Given the description of an element on the screen output the (x, y) to click on. 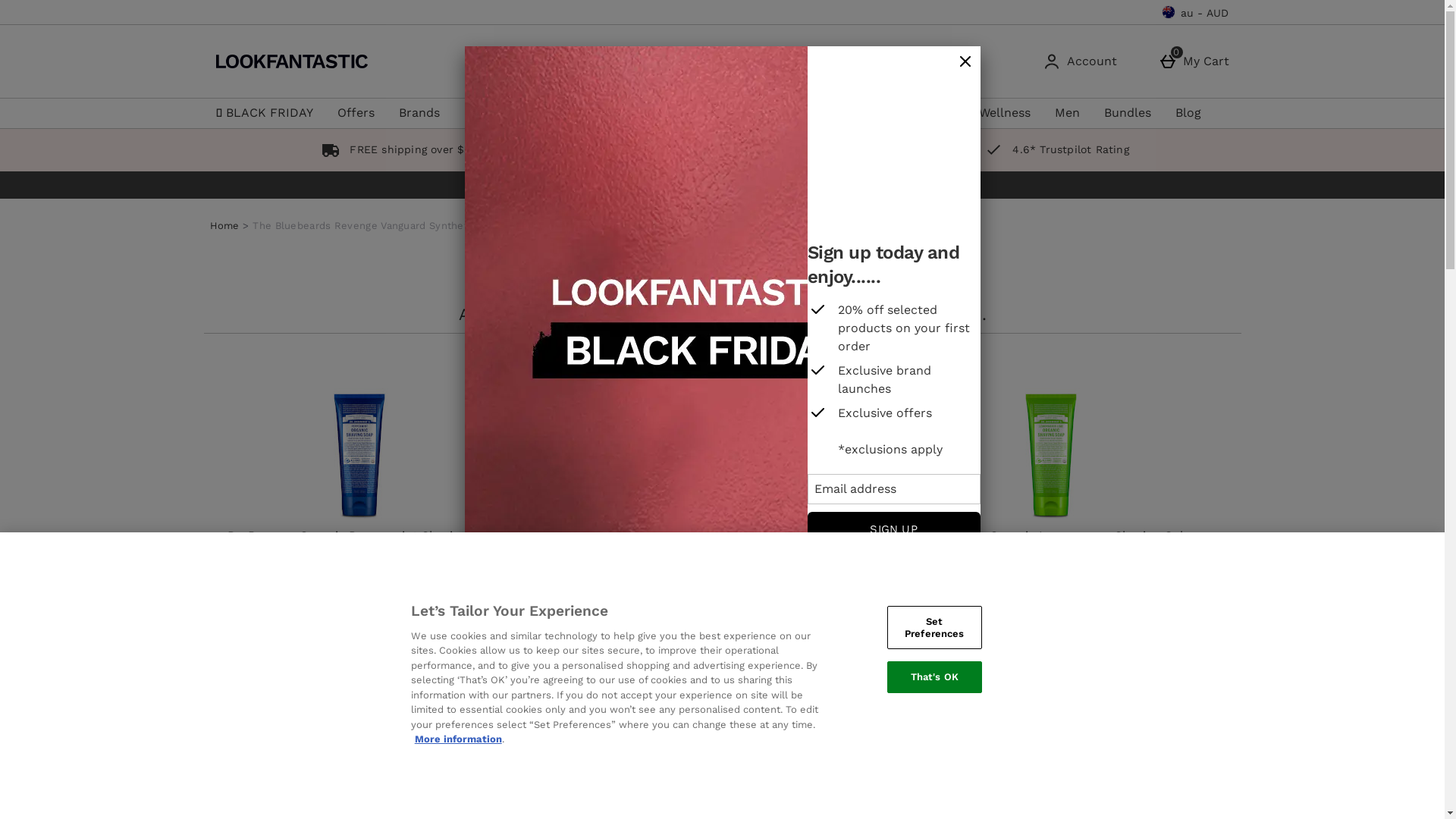
Download the app for bonus offers* Element type: text (623, 148)
Close Element type: hover (964, 62)
Dr. Bronner Organic Lemongrass Shaving Gel (207ml)
A$14.96 Element type: text (1049, 486)
Home Element type: text (223, 225)
Account Element type: text (1081, 61)
Haircare Element type: text (613, 112)
Start search Element type: hover (844, 61)
View our privacy policy Element type: text (893, 566)
FREE shipping over $30 Element type: text (396, 148)
Email address Element type: hover (893, 488)
Dr. Bronner Organic Unscented Shaving Gel (207ml)
A$14.96 Element type: text (704, 486)
Makeup Element type: text (685, 112)
SIGN UP Element type: text (893, 530)
Men Element type: text (1066, 112)
4.6* Trustpilot Rating Element type: text (1053, 148)
That's OK Element type: text (934, 677)
Fragrance Element type: text (924, 112)
Brands Element type: text (418, 112)
Wellness Element type: text (1003, 112)
New Element type: text (476, 112)
Bodycare Element type: text (842, 112)
Dr. Bronner Organic Peppermint Shaving Gel (207ml)
A$14.96 Element type: text (358, 486)
Skincare Element type: text (539, 112)
au - AUD Element type: text (1195, 12)
More information Element type: text (458, 738)
Set Preferences Element type: text (934, 627)
Offers Element type: text (354, 112)
0
My Cart Element type: text (1196, 61)
SPF & Tan Element type: text (762, 112)
Refer a friend and earn $5 Element type: text (857, 148)
The Bluebeards Revenge Element type: hover (871, 635)
Blog Element type: text (1188, 112)
Bundles Element type: text (1127, 112)
Skip to main content Element type: text (62, 6)
